Given the description of an element on the screen output the (x, y) to click on. 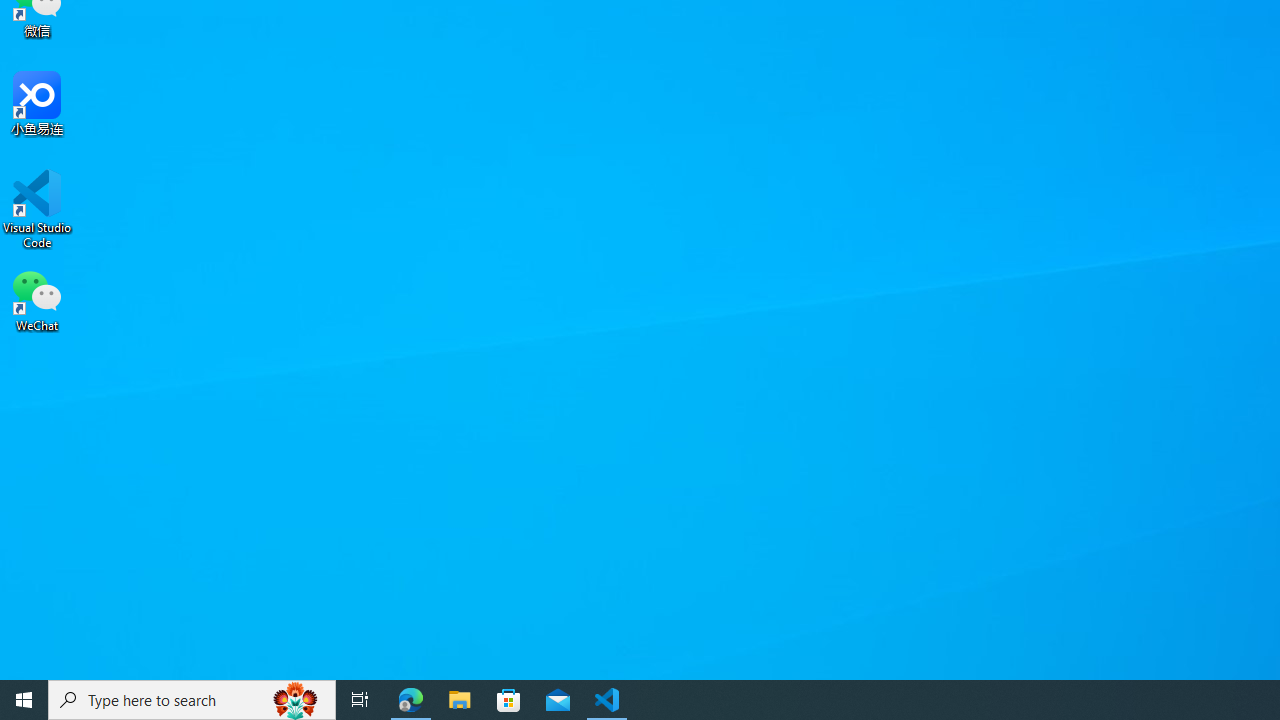
Start (24, 699)
Task View (359, 699)
Type here to search (191, 699)
Microsoft Edge - 1 running window (411, 699)
Search highlights icon opens search home window (295, 699)
File Explorer (460, 699)
Visual Studio Code - 1 running window (607, 699)
WeChat (37, 299)
Microsoft Store (509, 699)
Visual Studio Code (37, 209)
